Given the description of an element on the screen output the (x, y) to click on. 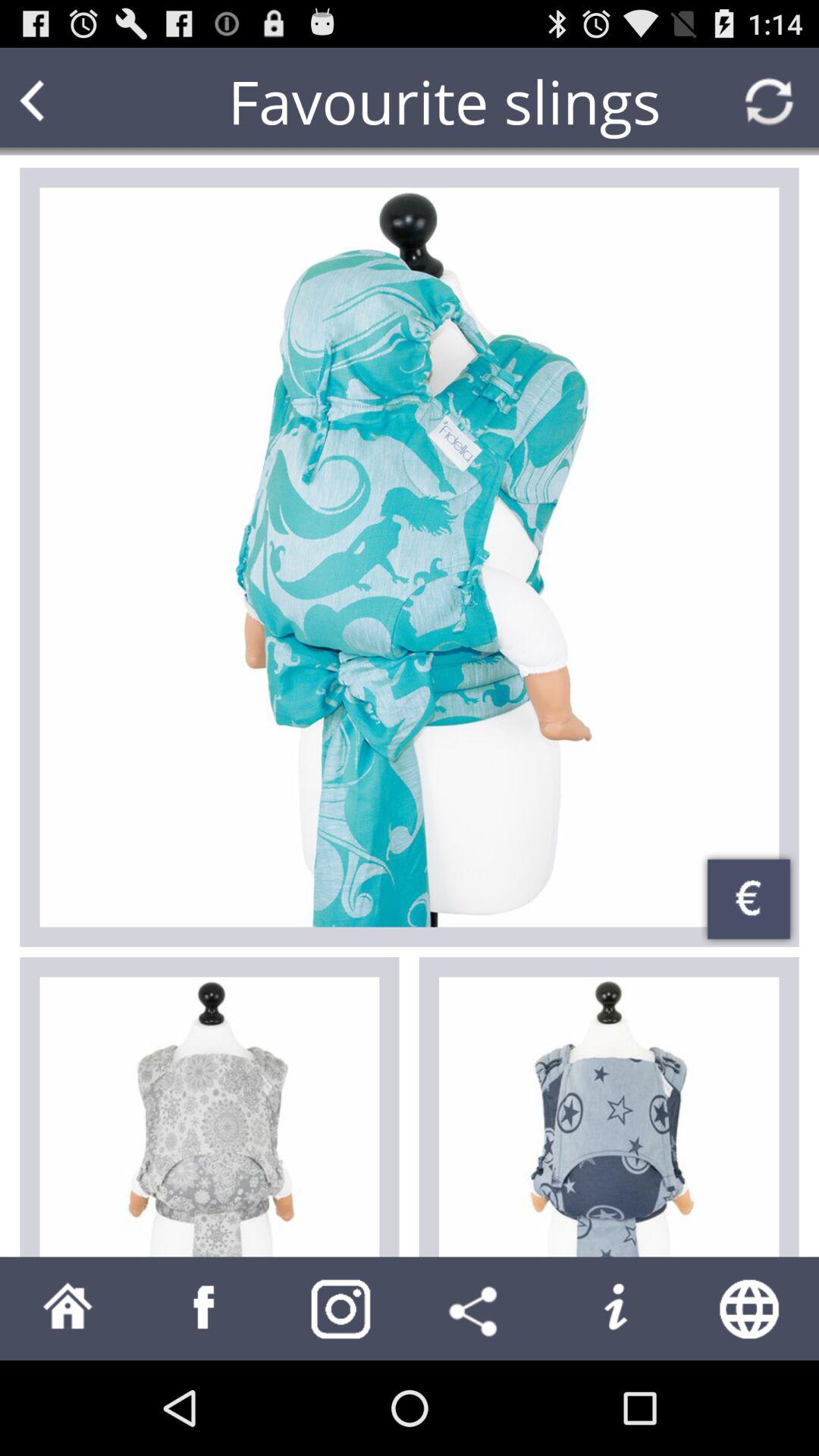
go to the item (209, 1116)
